Given the description of an element on the screen output the (x, y) to click on. 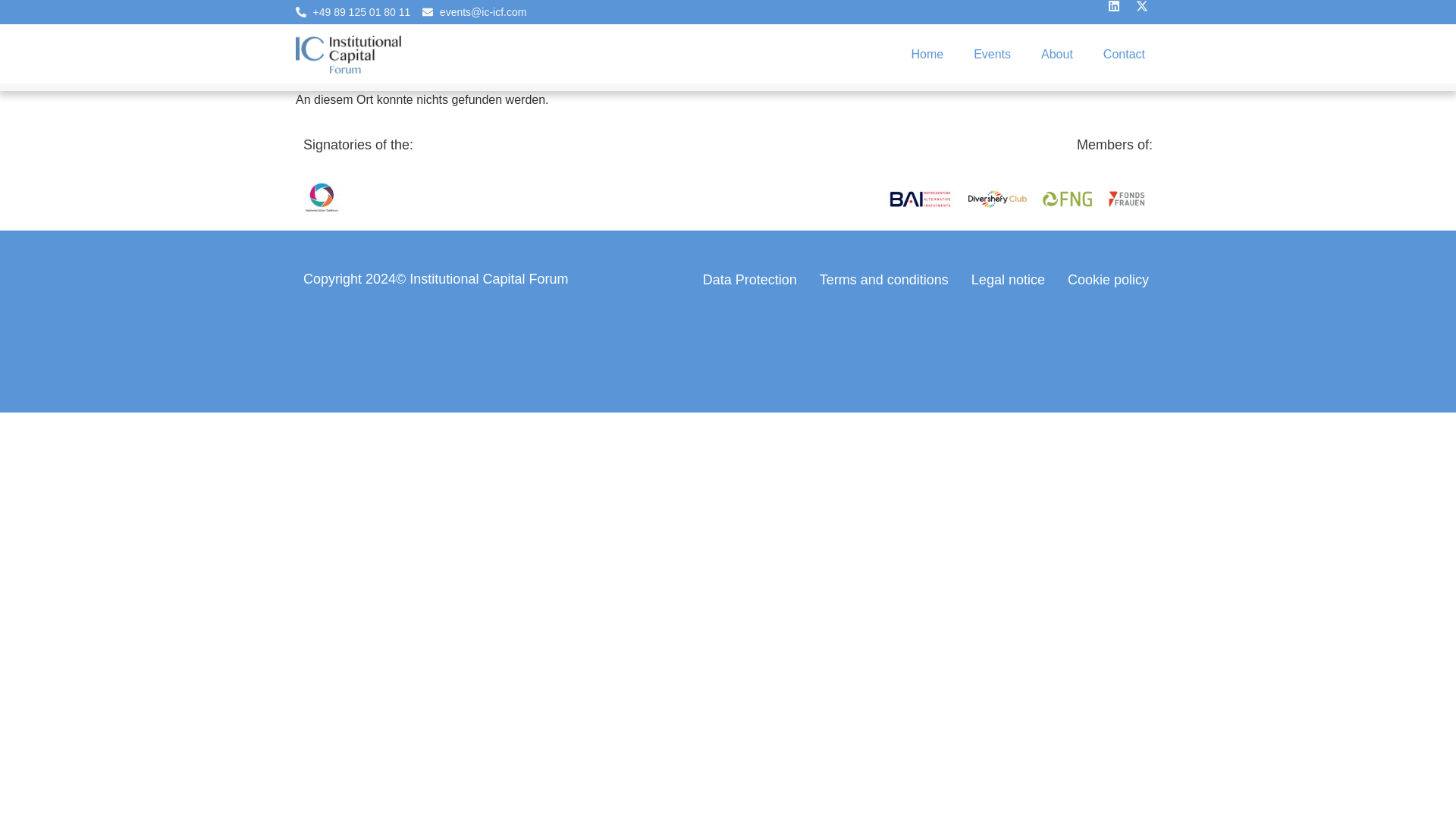
Events (992, 54)
Terms and conditions (883, 279)
Data Protection (749, 279)
Legal notice (1008, 279)
Contact (1123, 54)
Home (926, 54)
Cookie policy (1108, 279)
About (1056, 54)
